Given the description of an element on the screen output the (x, y) to click on. 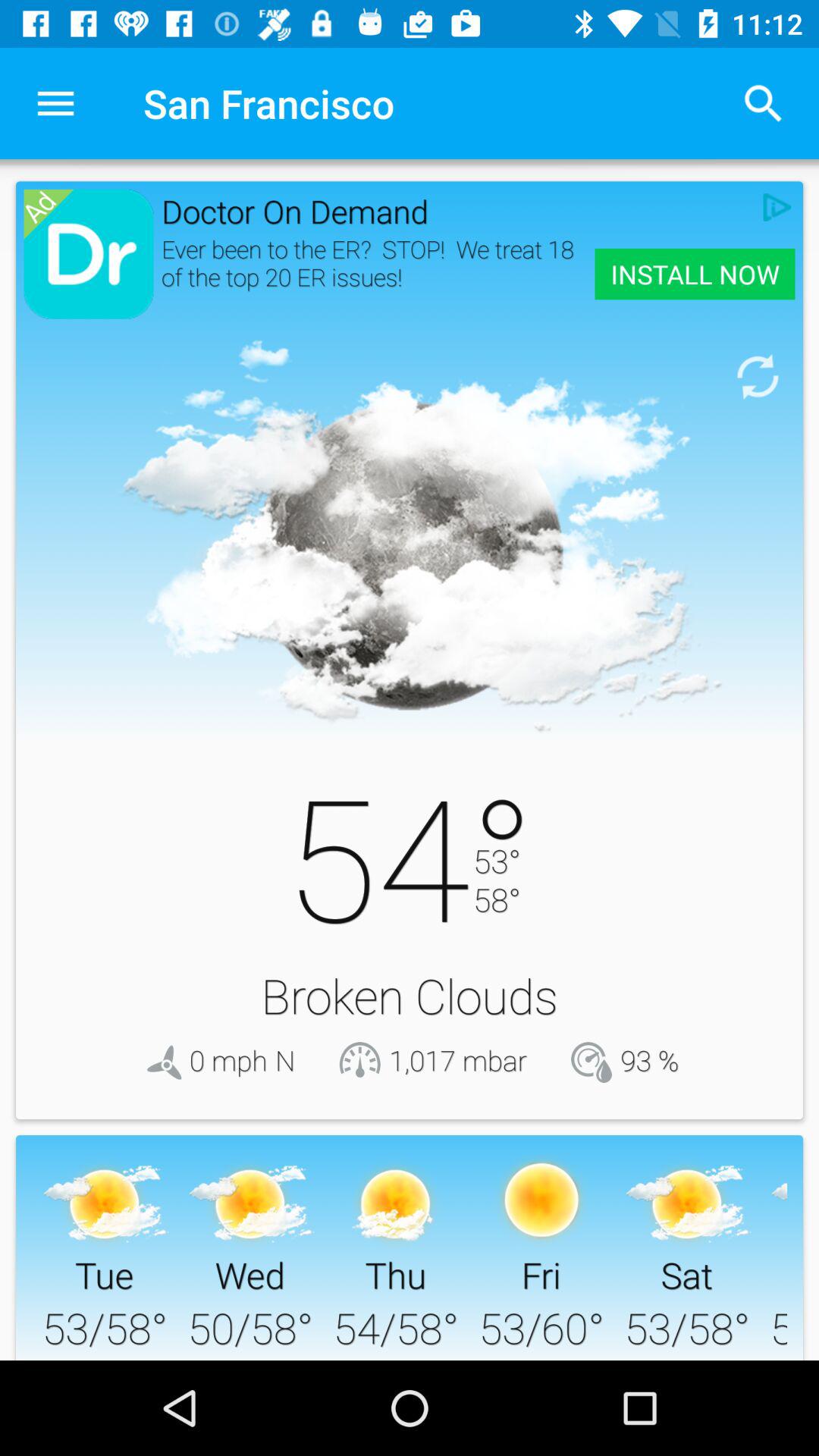
select the search icon below 1112 (763, 103)
